Given the description of an element on the screen output the (x, y) to click on. 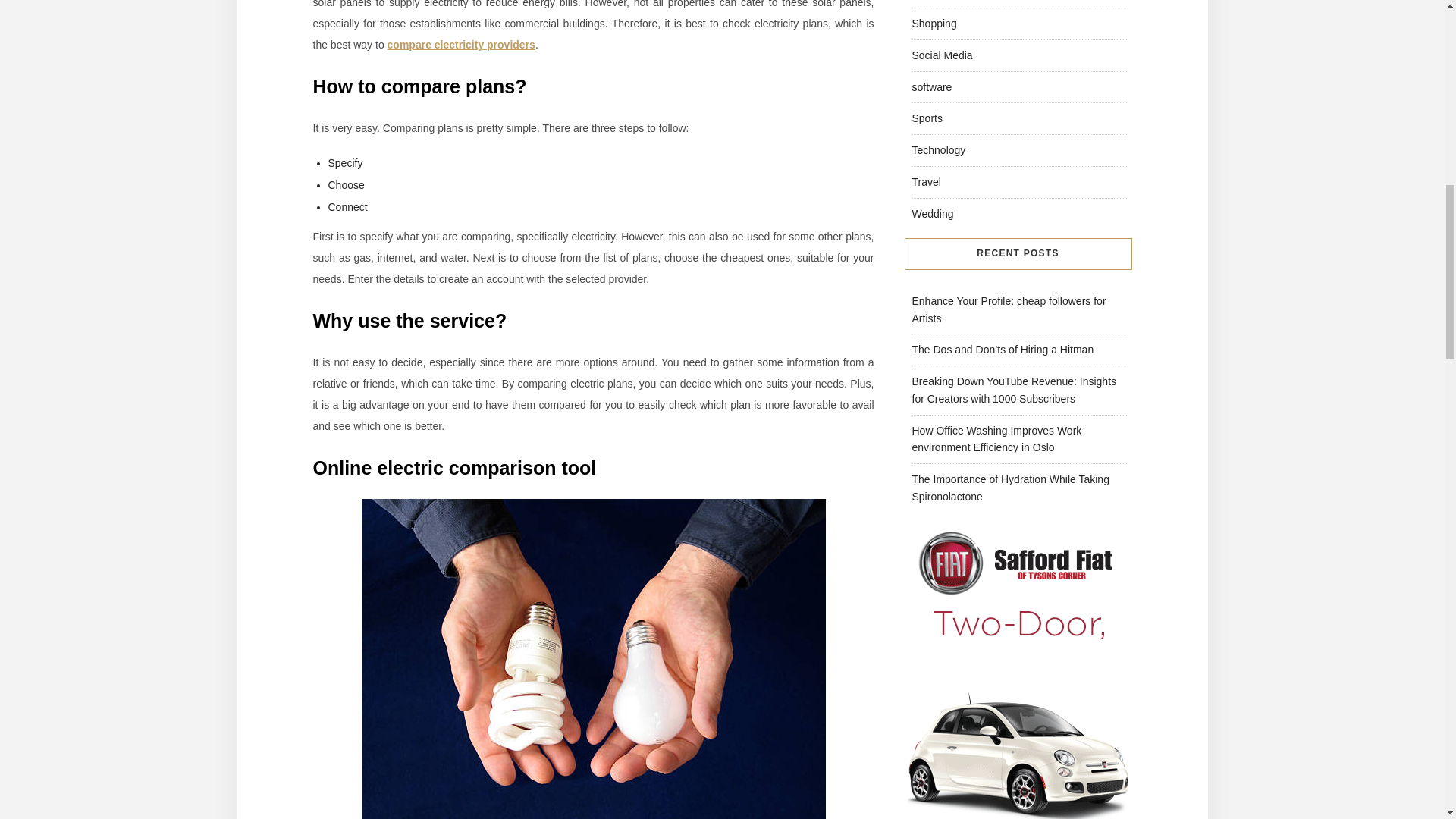
Shopping (933, 23)
Technology (938, 150)
compare electricity providers (461, 44)
Social Media (941, 55)
software (931, 86)
Sports (926, 118)
